Given the description of an element on the screen output the (x, y) to click on. 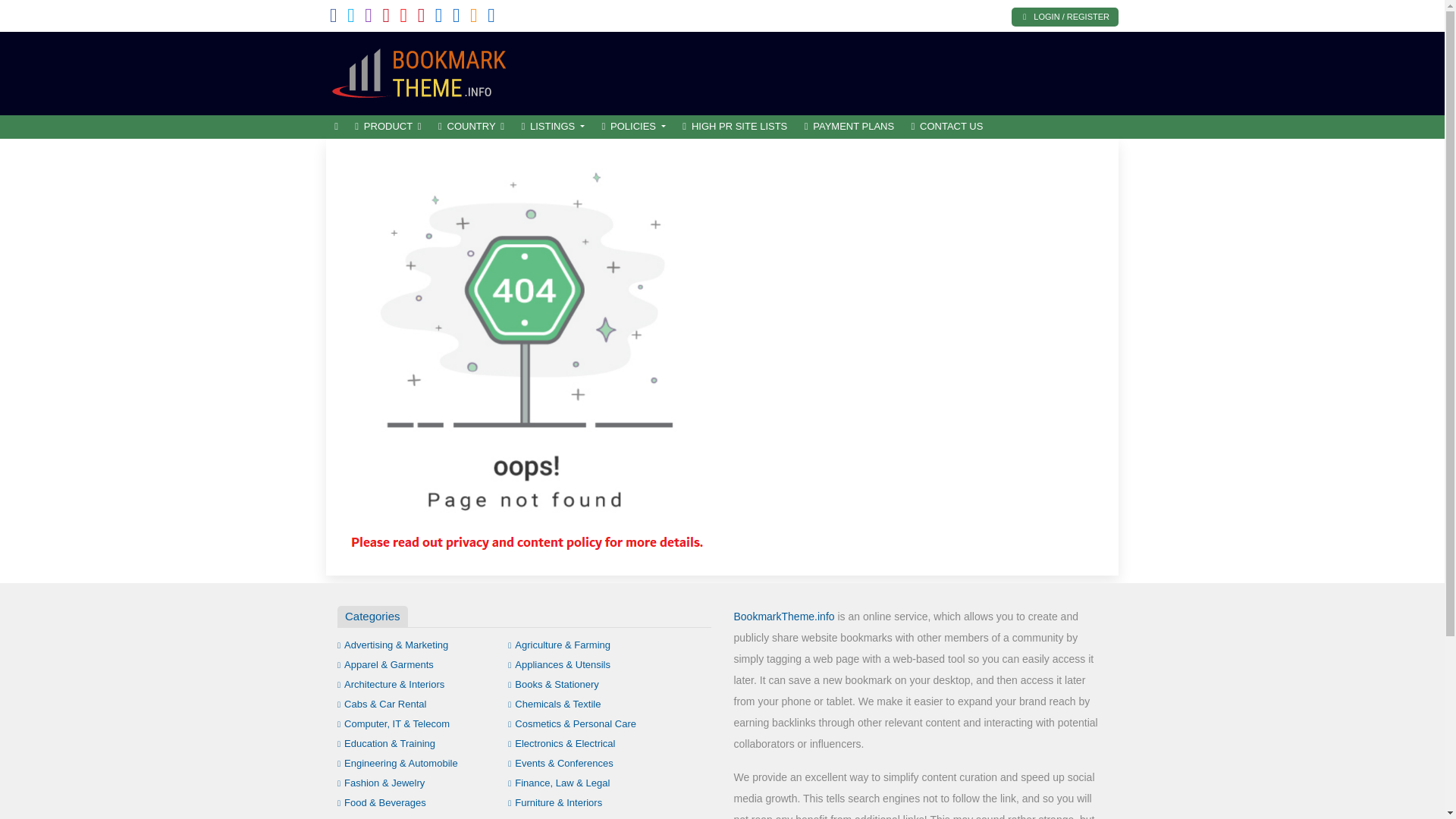
Digital Media and Quality Content Posting Service for SEO (428, 71)
PRODUCT (387, 126)
